Given the description of an element on the screen output the (x, y) to click on. 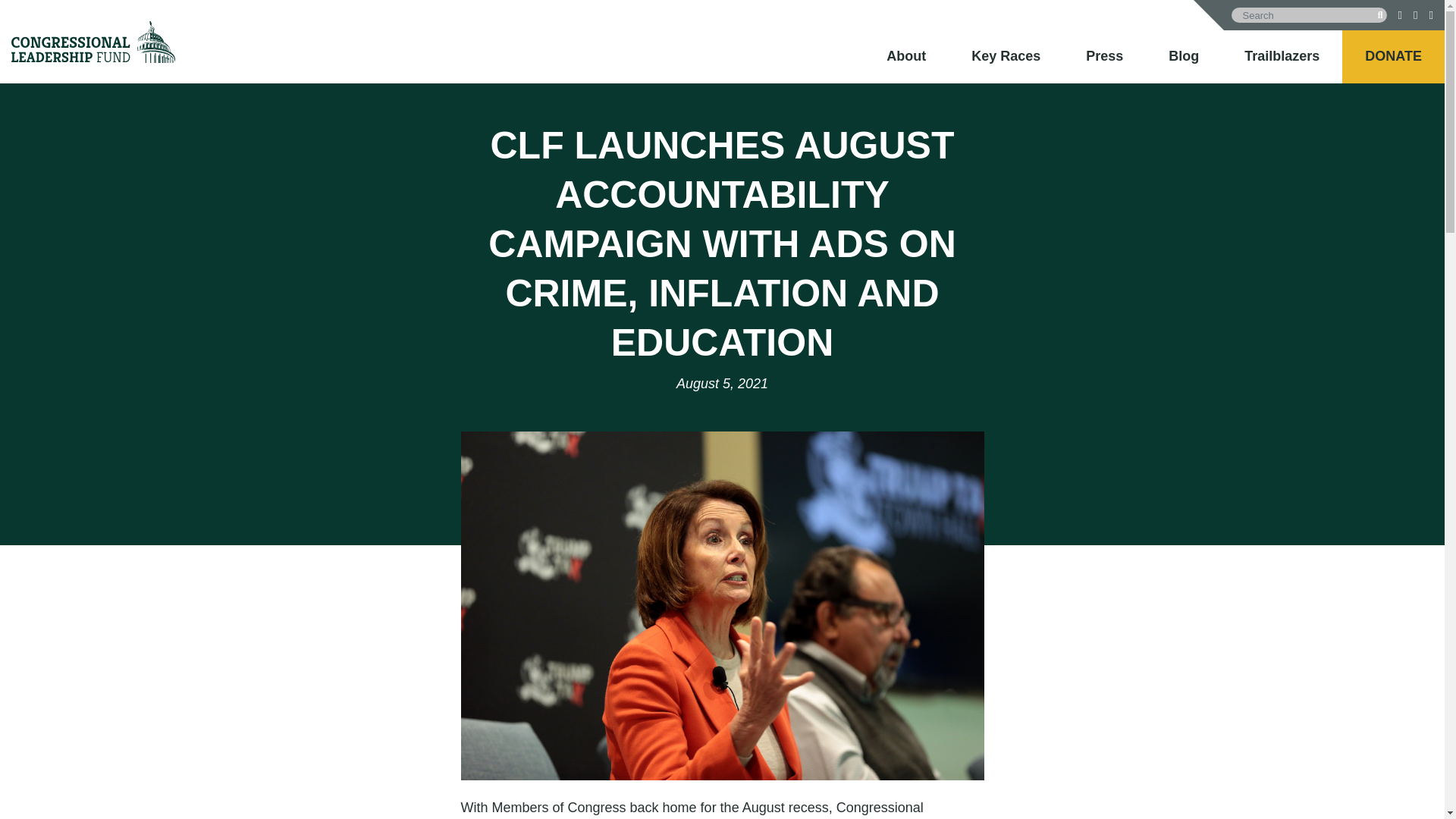
Press (1104, 56)
DONATE (1393, 56)
Key Races (1006, 56)
Trailblazers (1281, 56)
Blog (1183, 56)
About (906, 56)
